Given the description of an element on the screen output the (x, y) to click on. 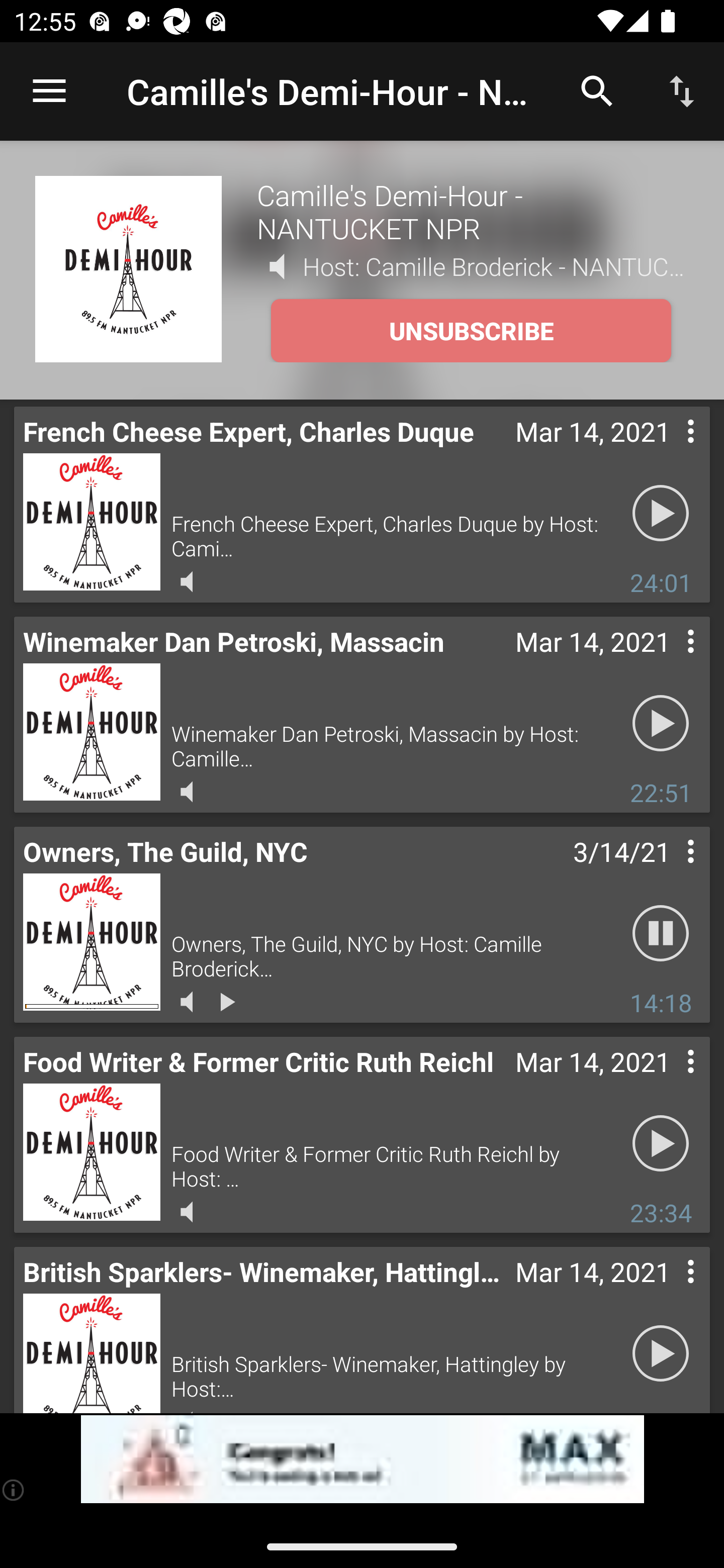
Open navigation sidebar (49, 91)
Search (597, 90)
Sort (681, 90)
UNSUBSCRIBE (470, 330)
Contextual menu (668, 451)
Play (660, 513)
Contextual menu (668, 661)
Play (660, 723)
Contextual menu (668, 870)
Pause (660, 933)
Contextual menu (668, 1080)
Play (660, 1143)
Contextual menu (668, 1290)
Play (660, 1353)
app-monetization (362, 1459)
(i) (14, 1489)
